Given the description of an element on the screen output the (x, y) to click on. 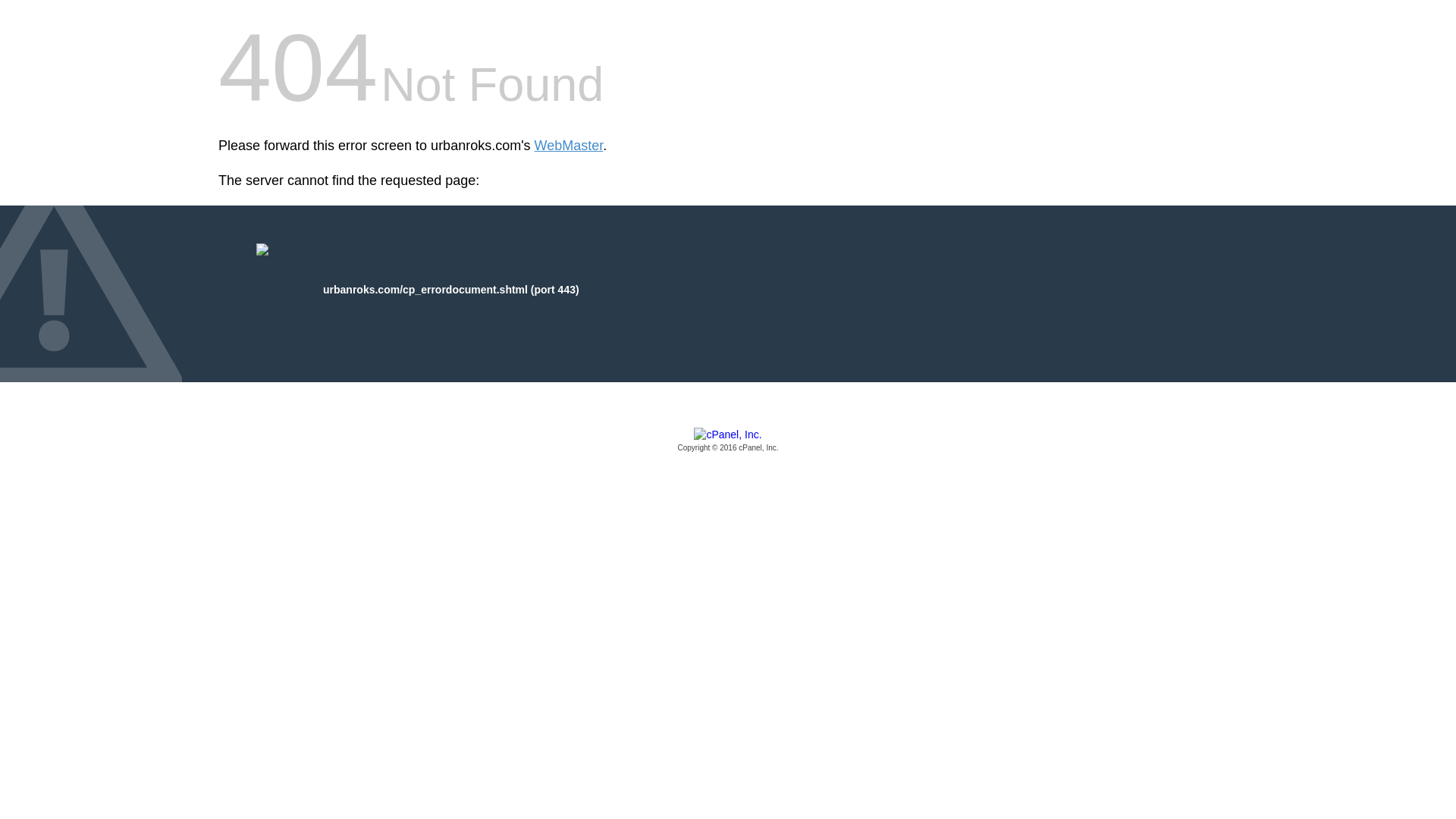
WebMaster (569, 145)
cPanel, Inc. (727, 440)
